Given the description of an element on the screen output the (x, y) to click on. 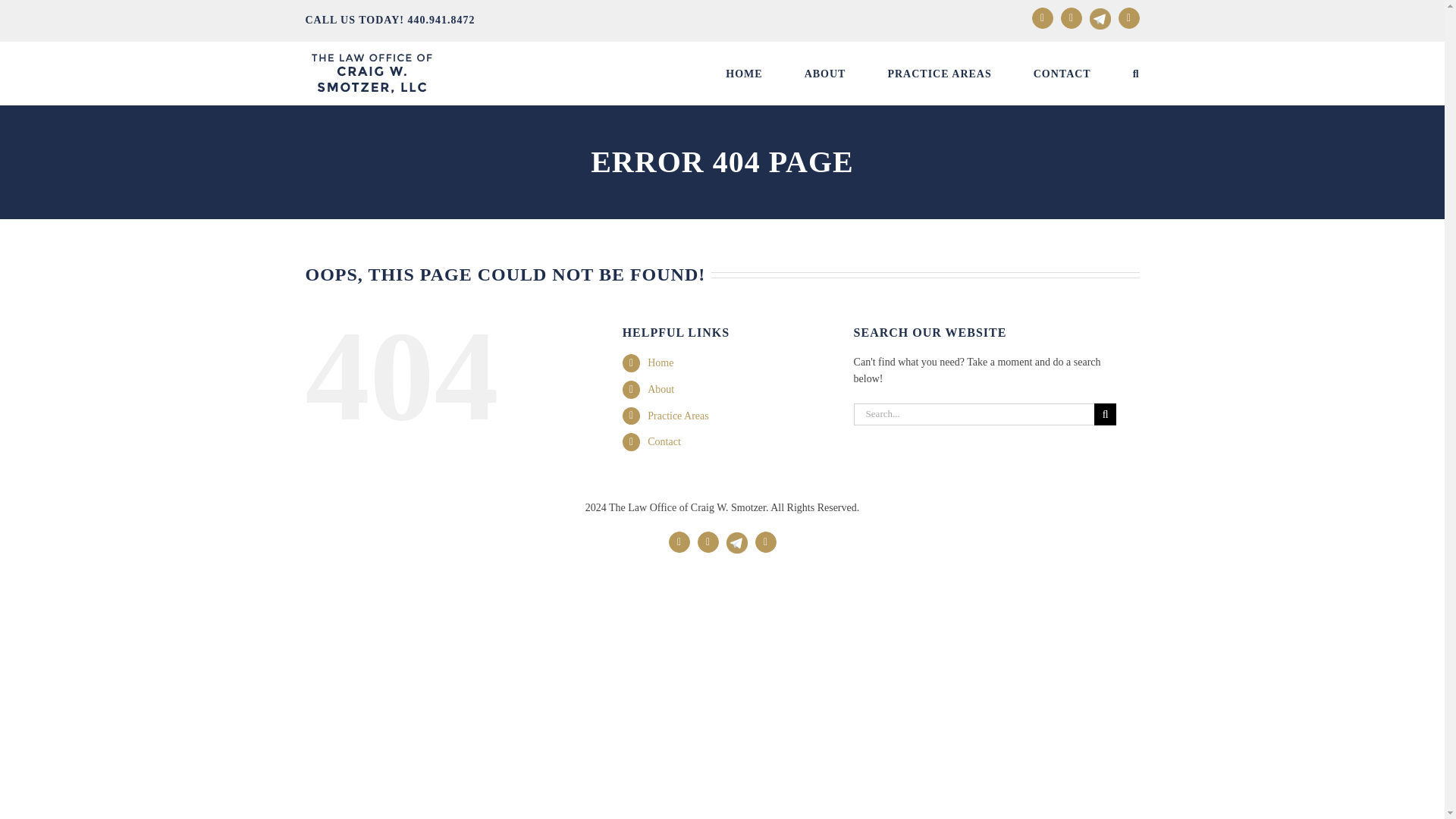
Telegram (737, 534)
facebook (679, 541)
facebook (1042, 17)
tumblr (1129, 17)
Contact (664, 441)
linkedin (708, 541)
facebook (679, 541)
Practice Areas (677, 415)
About (660, 389)
Telegram (1099, 18)
